Given the description of an element on the screen output the (x, y) to click on. 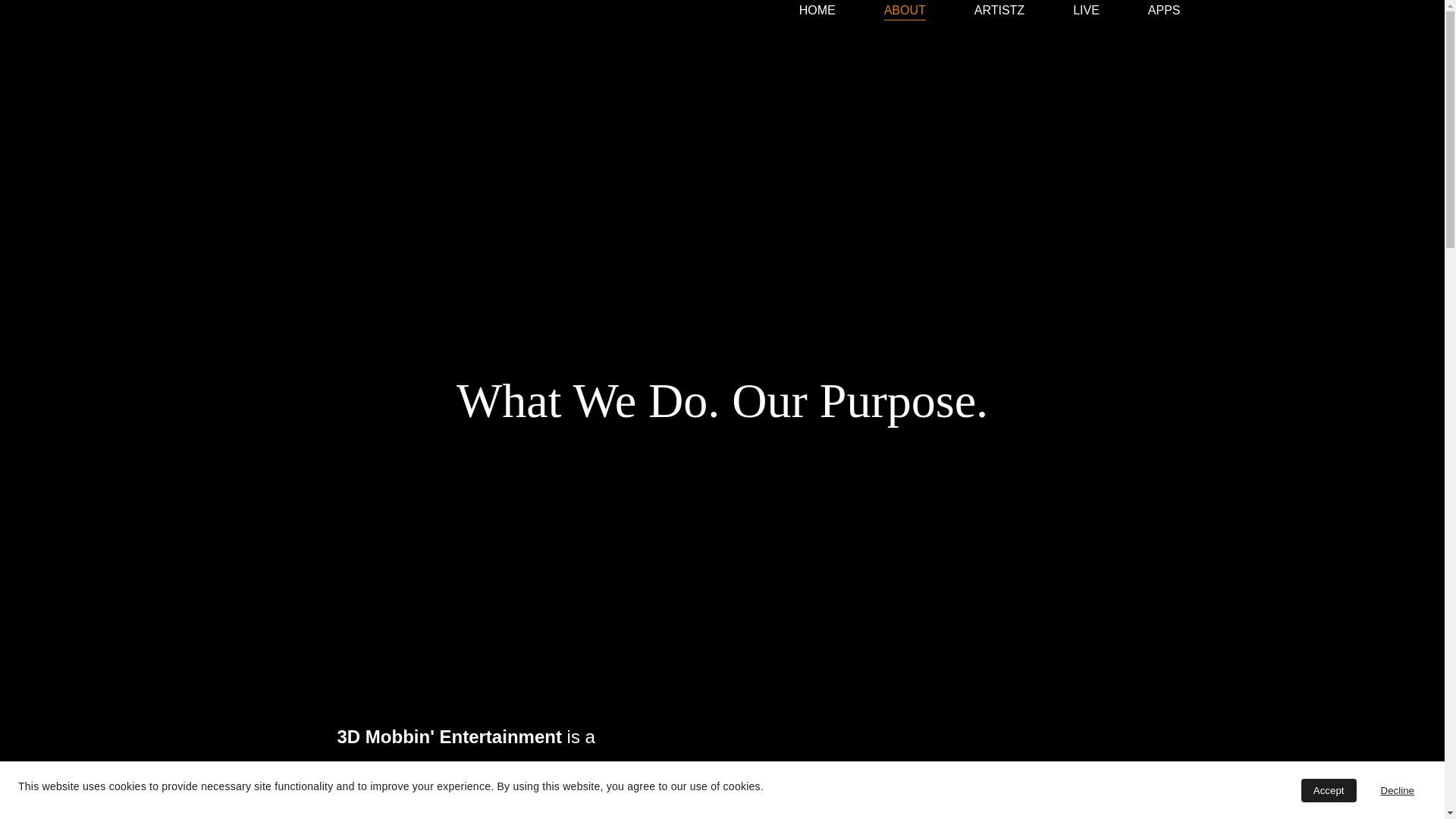
LIVE Element type: text (1086, 10)
ARTISTZ Element type: text (999, 10)
Accept Element type: text (1328, 790)
ABOUT Element type: text (904, 10)
Decline Element type: text (1397, 790)
APPS Element type: text (1164, 10)
HOME Element type: text (817, 10)
